Given the description of an element on the screen output the (x, y) to click on. 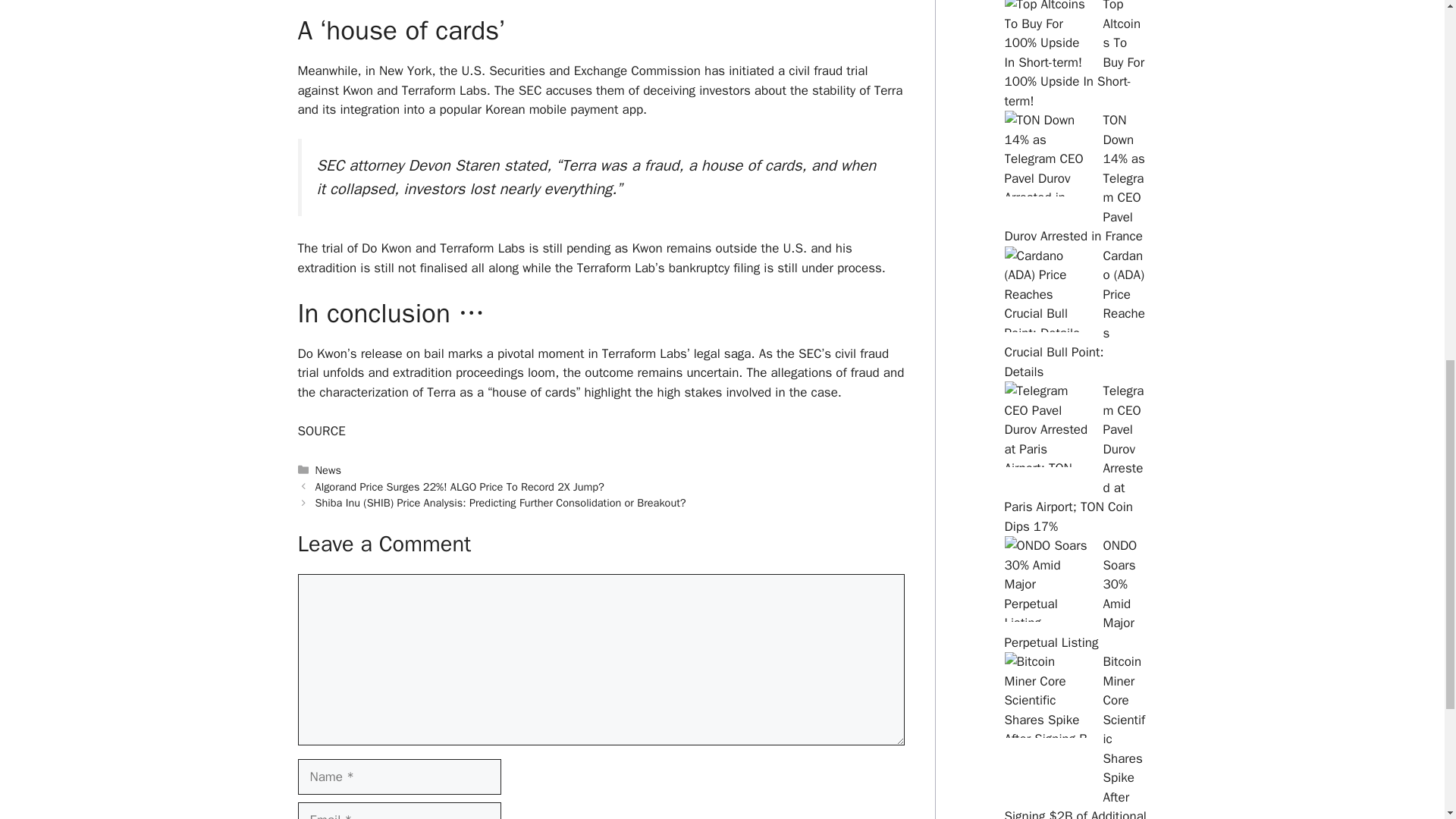
SOURCE (321, 430)
News (327, 469)
